Given the description of an element on the screen output the (x, y) to click on. 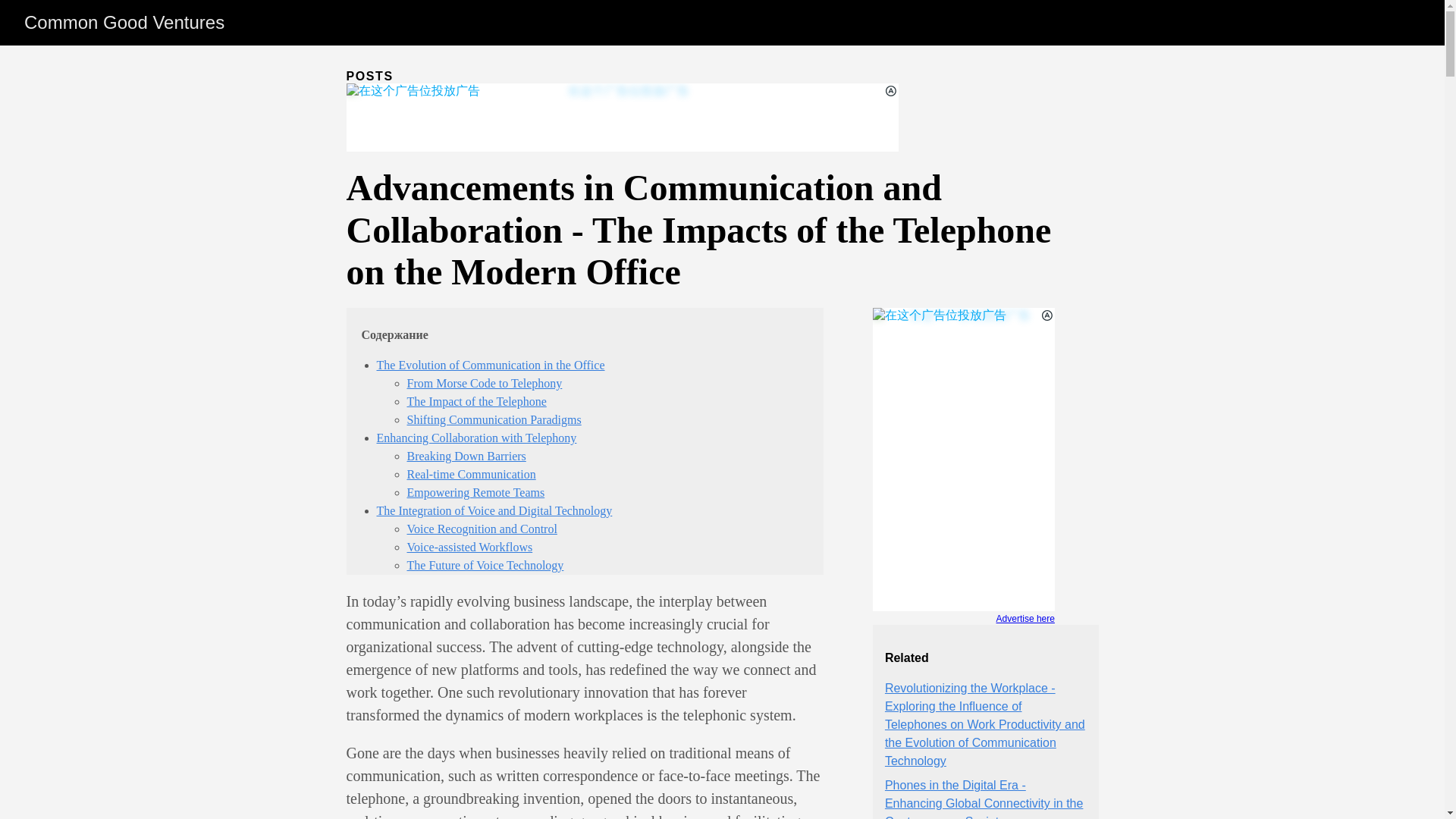
Breaking Down Barriers (465, 455)
The Future of Voice Technology (484, 564)
Common Good Ventures (124, 22)
The Integration of Voice and Digital Technology (493, 510)
Advertise here (963, 619)
Real-time Communication (470, 473)
Voice-assisted Workflows (469, 546)
Empowering Remote Teams (475, 492)
Voice Recognition and Control (481, 528)
From Morse Code to Telephony (484, 382)
Shifting Communication Paradigms (493, 419)
Enhancing Collaboration with Telephony (475, 437)
The Impact of the Telephone (476, 400)
